Given the description of an element on the screen output the (x, y) to click on. 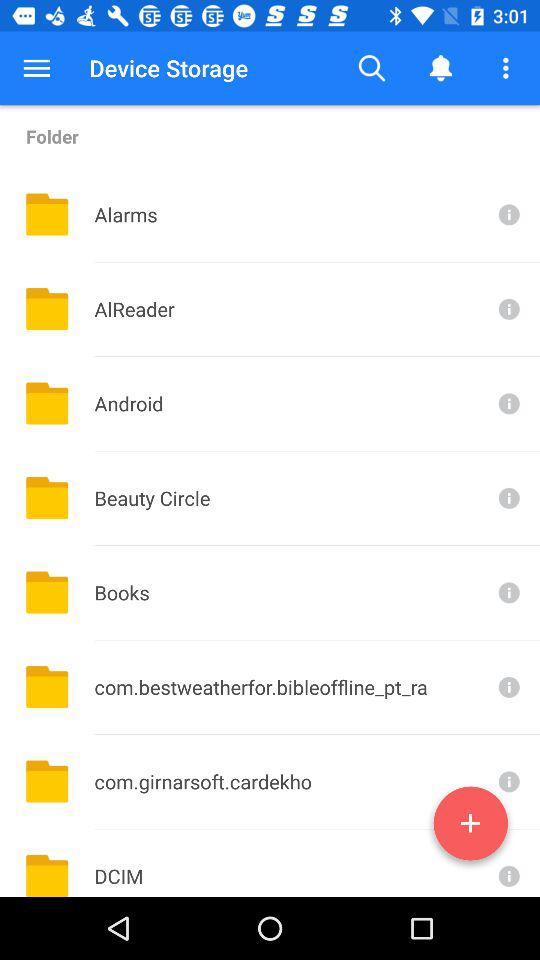
open information (507, 592)
